Given the description of an element on the screen output the (x, y) to click on. 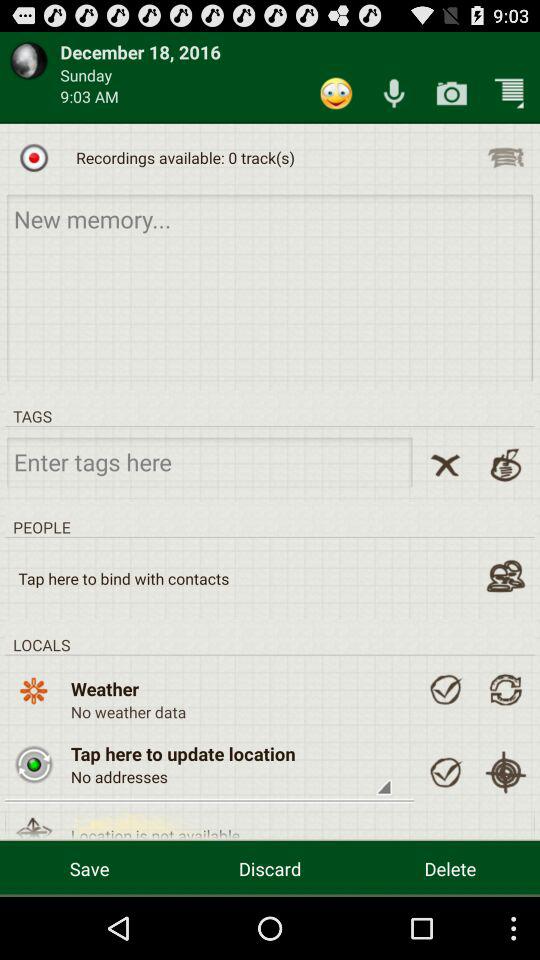
specker icone (394, 92)
